Given the description of an element on the screen output the (x, y) to click on. 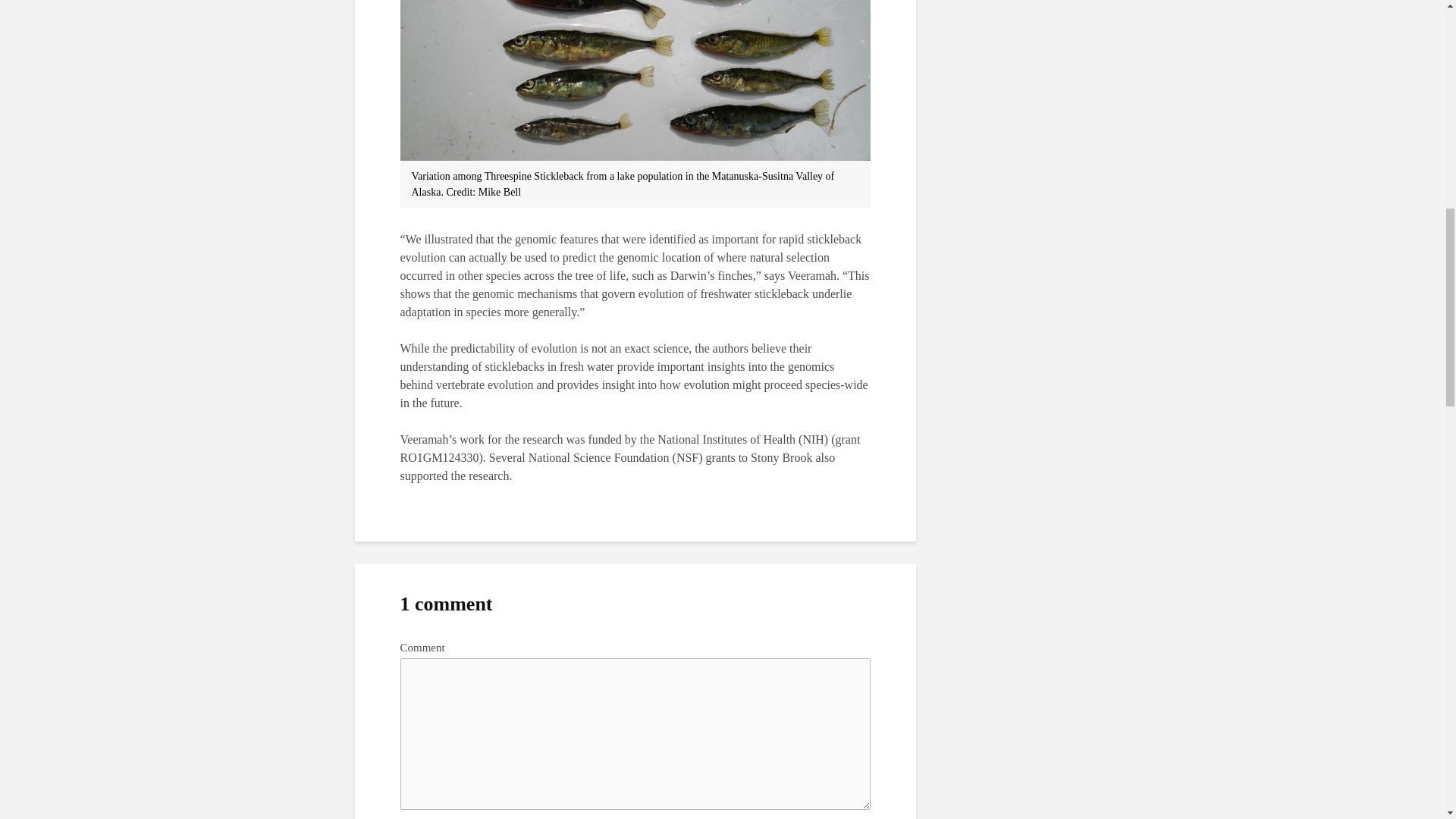
Sticklebackfishgroup (635, 80)
